Given the description of an element on the screen output the (x, y) to click on. 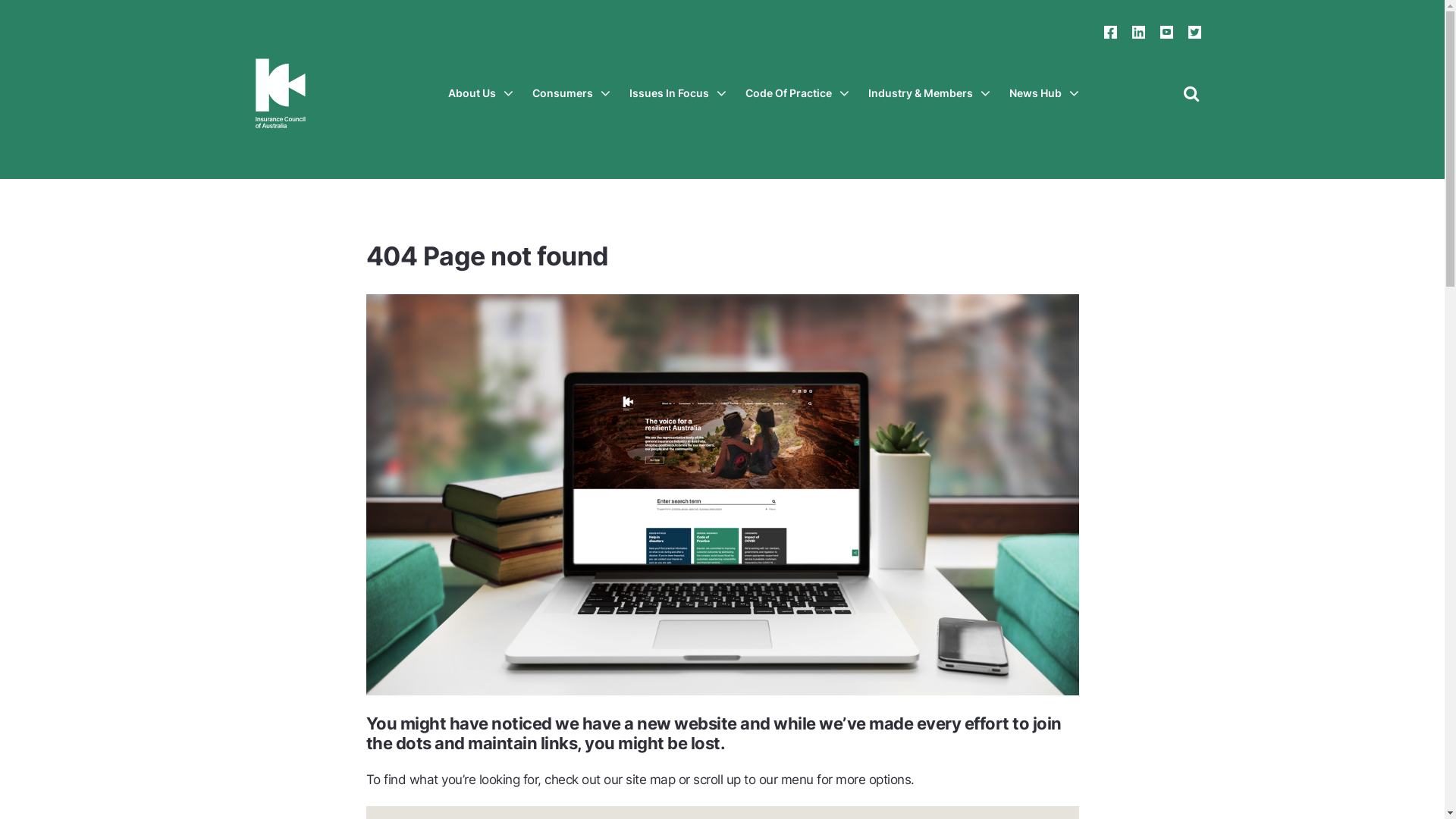
Issues In Focus Element type: text (677, 92)
News Hub Element type: text (1043, 92)
About Us Element type: text (479, 92)
Industry & Members Element type: text (928, 92)
Code Of Practice Element type: text (796, 92)
Consumers Element type: text (571, 92)
